Given the description of an element on the screen output the (x, y) to click on. 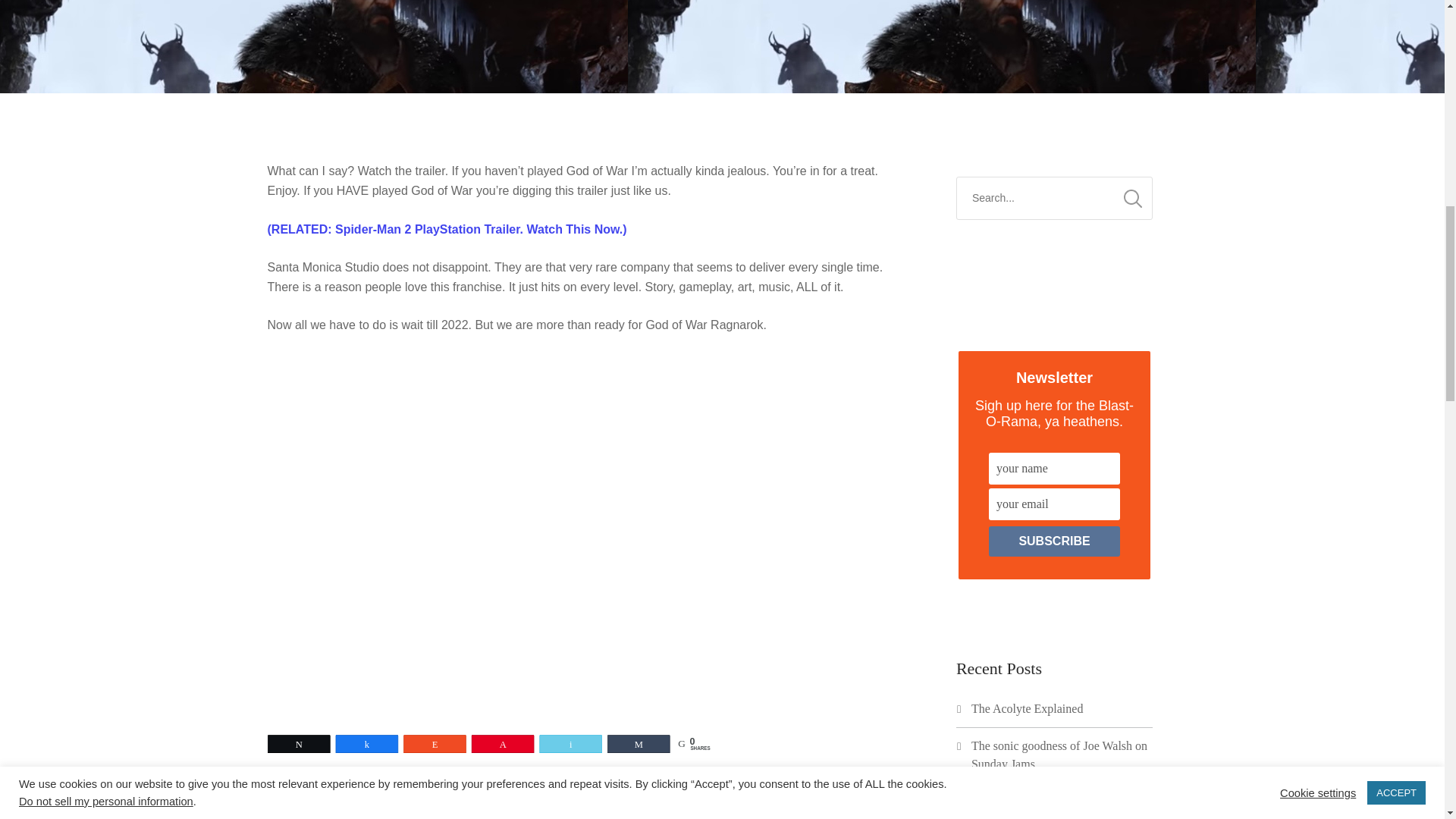
Loftus Party (859, 782)
gaming news (456, 782)
Gaming (385, 782)
video (652, 808)
god of war ragnarok trailer (750, 782)
god of war ragnarok (624, 782)
new video games (417, 808)
new game trailers (317, 808)
playstation (502, 808)
subscribe (1053, 541)
god of war (533, 782)
game trailers (316, 782)
the loftus party (584, 808)
